Given the description of an element on the screen output the (x, y) to click on. 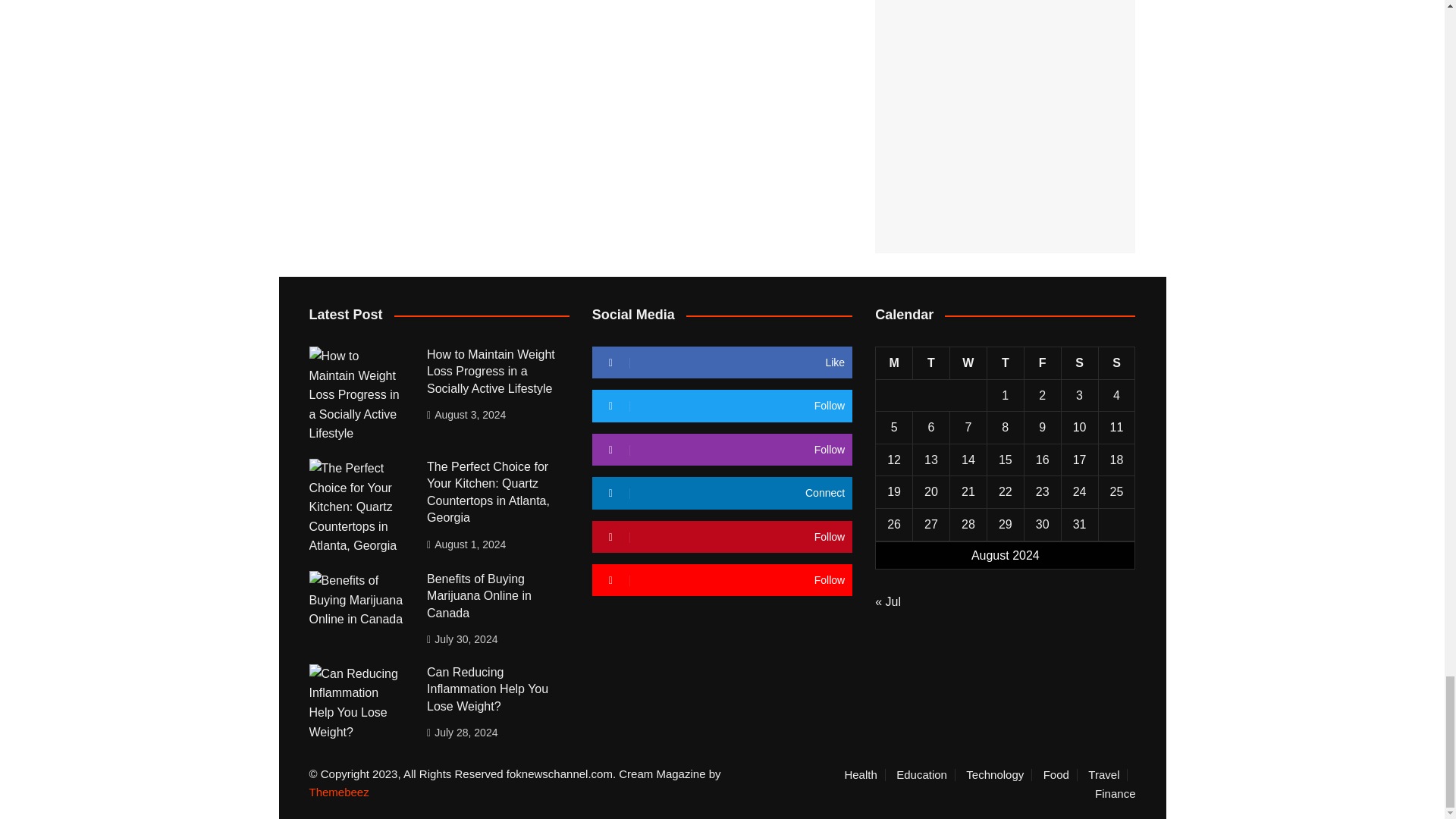
Sunday (1116, 363)
Thursday (1005, 363)
Wednesday (968, 363)
Saturday (1079, 363)
Tuesday (931, 363)
Monday (894, 363)
Friday (1042, 363)
